Given the description of an element on the screen output the (x, y) to click on. 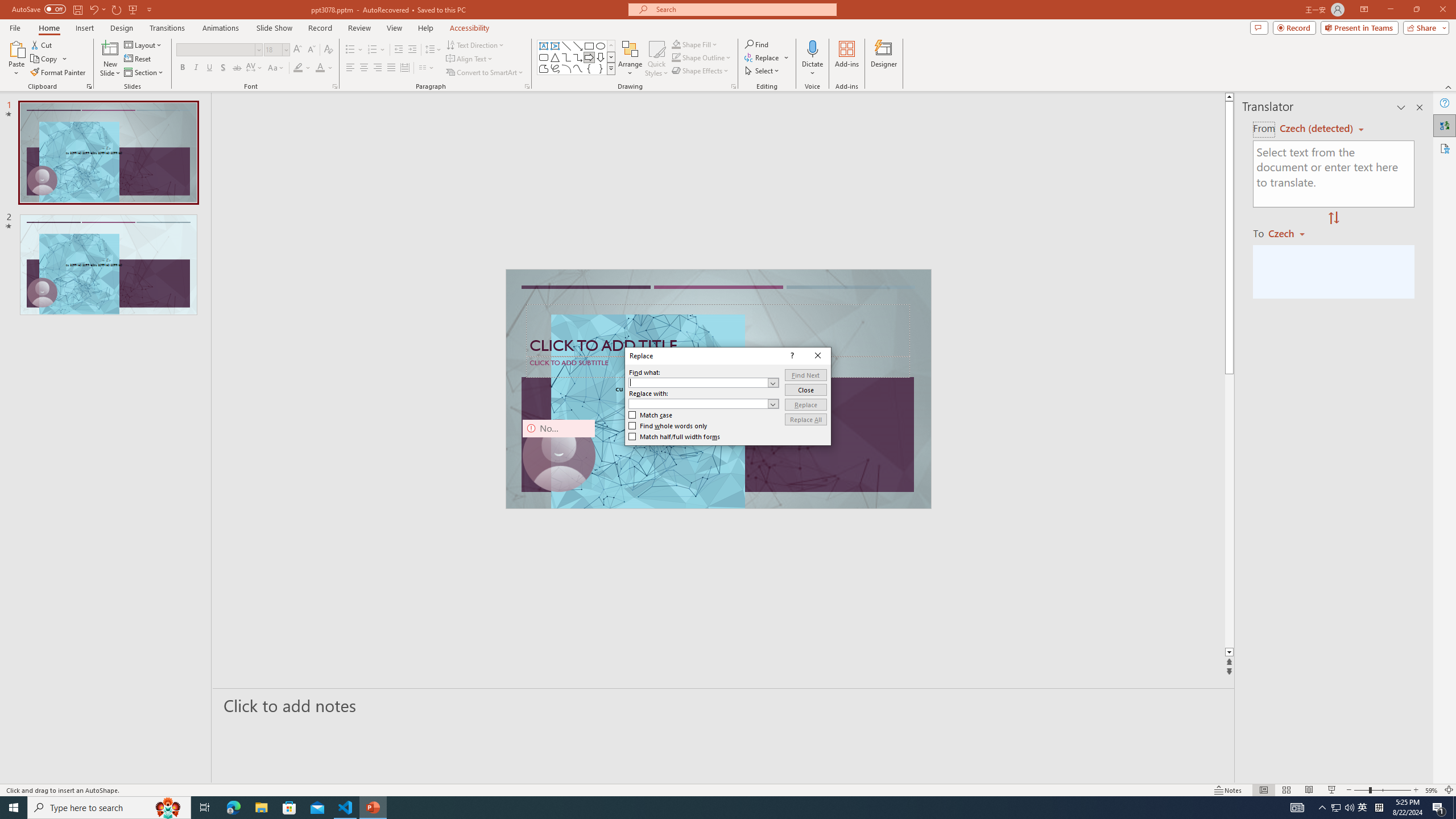
Slide Notes (724, 705)
Convert to SmartArt (485, 72)
Line Spacing (433, 49)
Line Arrow (577, 45)
Notification Chevron (1322, 807)
Align Left (349, 67)
Freeform: Scribble (554, 68)
Q2790: 100% (1349, 807)
